Given the description of an element on the screen output the (x, y) to click on. 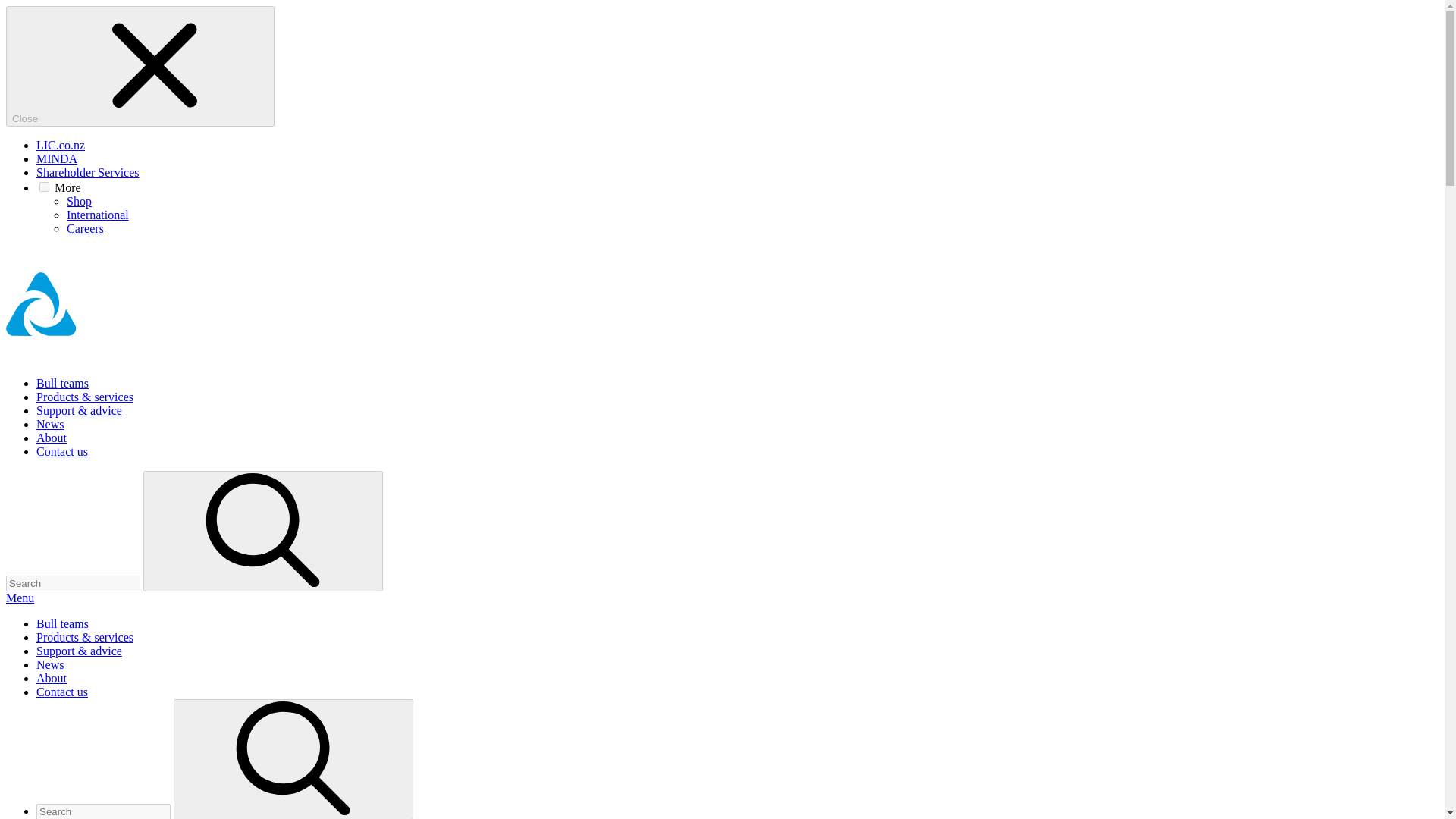
LIC.co.nz (60, 144)
Close (140, 65)
International (97, 214)
Bull teams (62, 623)
News (50, 423)
LIC logo (118, 357)
MINDA (56, 158)
on (44, 186)
Menu (19, 597)
About (51, 437)
